Given the description of an element on the screen output the (x, y) to click on. 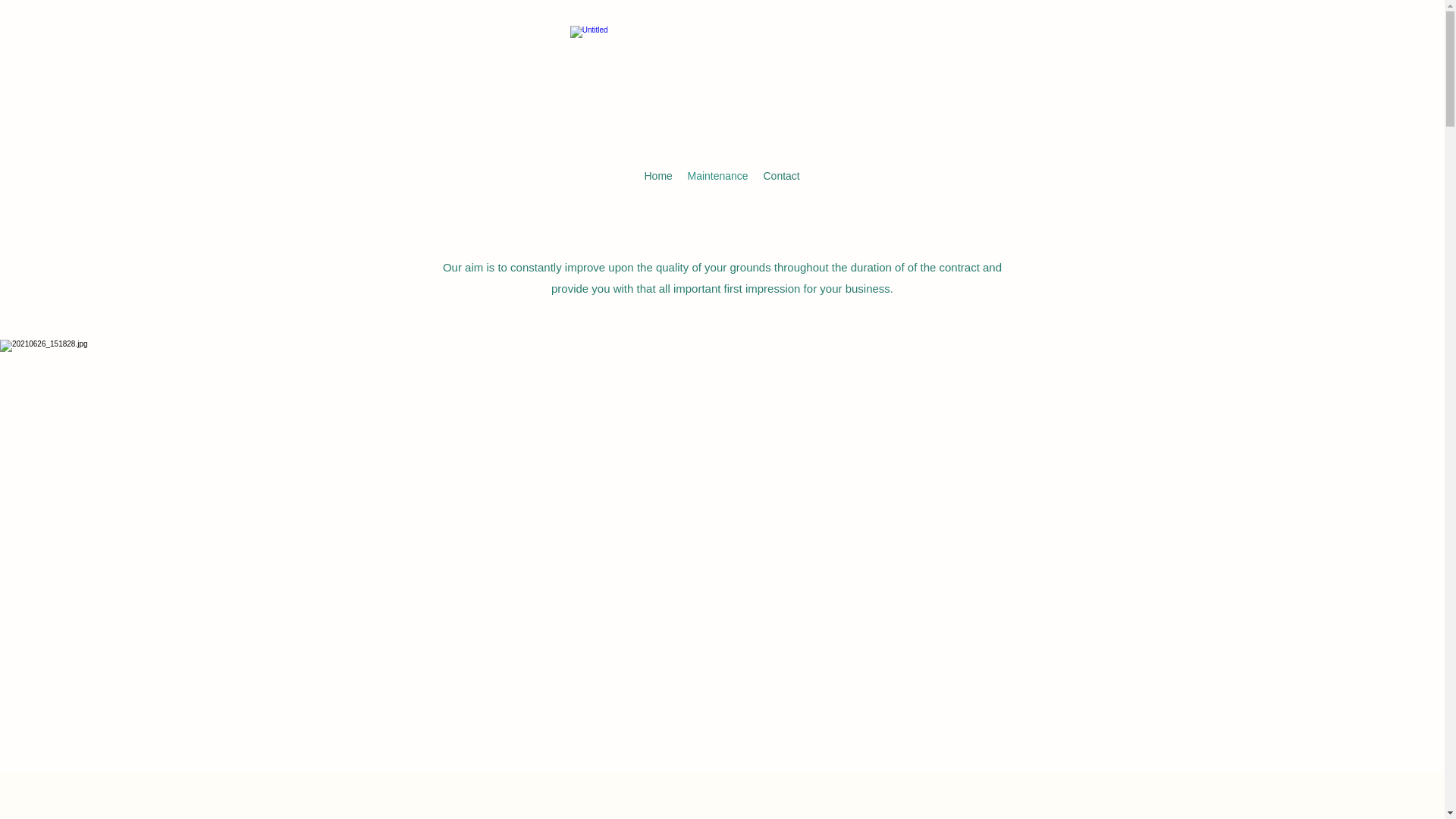
Maintenance (717, 176)
Home (657, 176)
Contact (780, 176)
